Given the description of an element on the screen output the (x, y) to click on. 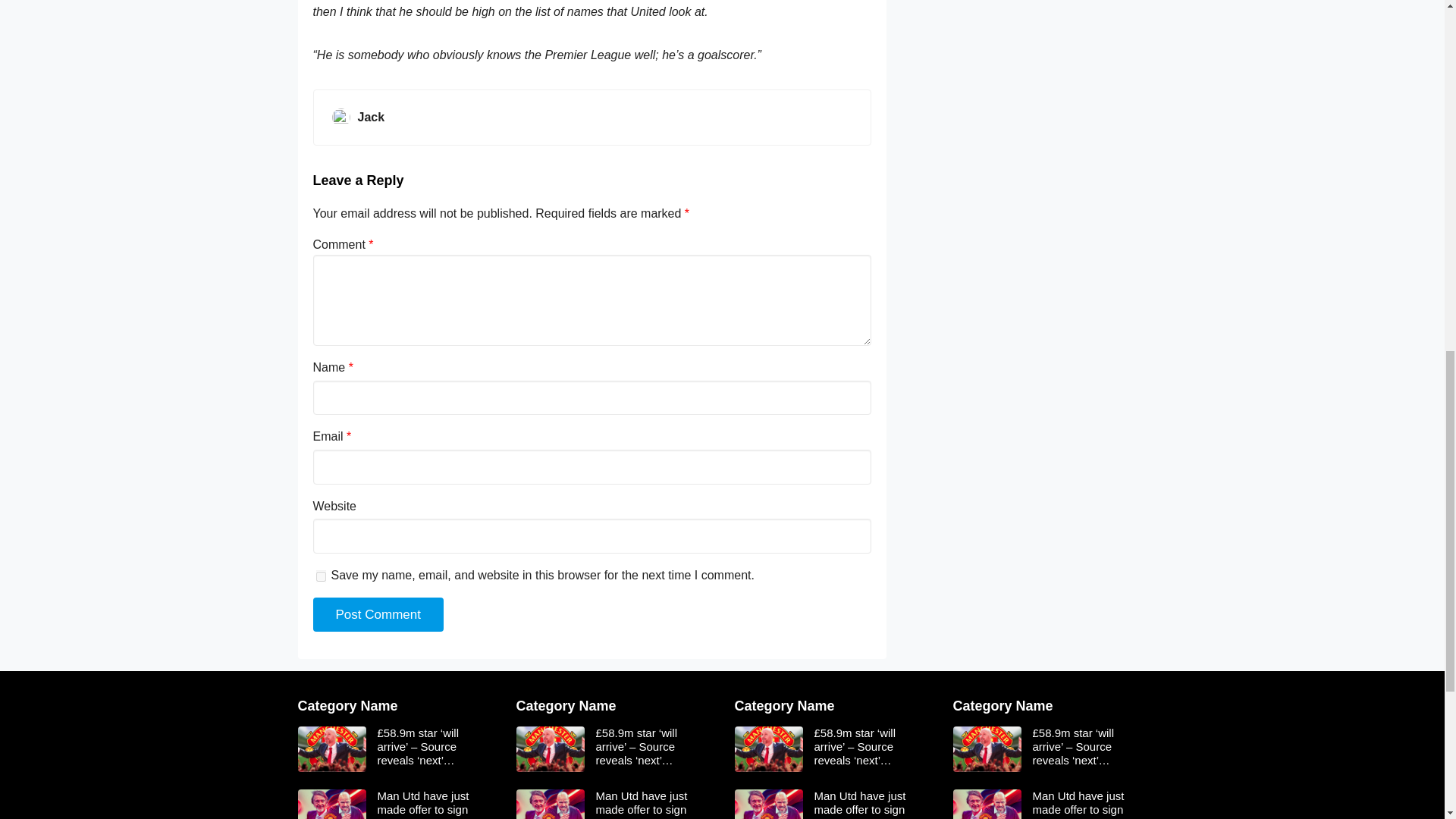
Post Comment (377, 614)
Category Name (565, 705)
Post Comment (377, 614)
Category Name (783, 705)
Category Name (347, 705)
Category Name (1002, 705)
